Given the description of an element on the screen output the (x, y) to click on. 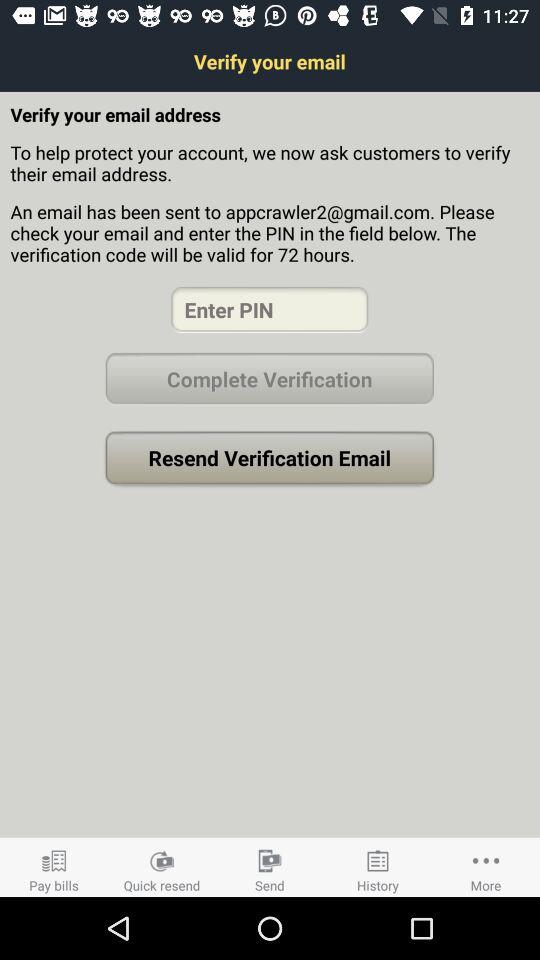
tap the complete verification item (269, 378)
